Given the description of an element on the screen output the (x, y) to click on. 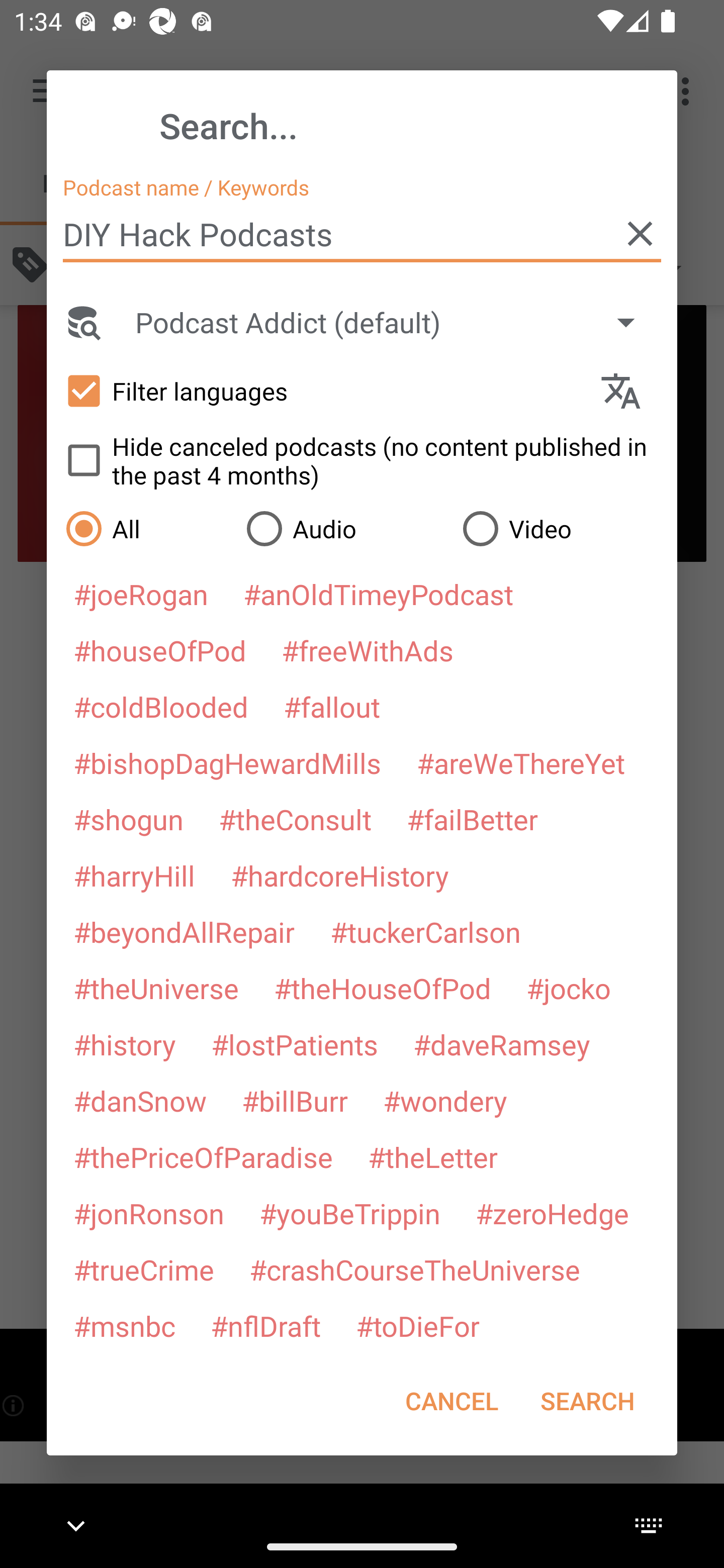
DIY Hack Podcasts (361, 234)
Search Engine (82, 322)
Podcast Addict (default) (394, 322)
Languages selection (629, 390)
Filter languages (322, 390)
All (145, 528)
Audio (344, 528)
Video (560, 528)
#joeRogan (140, 594)
#anOldTimeyPodcast (378, 594)
#houseOfPod (159, 650)
#freeWithAds (367, 650)
#coldBlooded (160, 705)
#fallout (331, 705)
#bishopDagHewardMills (227, 762)
#areWeThereYet (521, 762)
#shogun (128, 818)
#theConsult (294, 818)
#failBetter (471, 818)
#harryHill (134, 875)
#hardcoreHistory (339, 875)
#beyondAllRepair (184, 931)
#tuckerCarlson (425, 931)
#theUniverse (155, 987)
#theHouseOfPod (381, 987)
#jocko (568, 987)
#history (124, 1044)
#lostPatients (294, 1044)
#daveRamsey (501, 1044)
#danSnow (139, 1100)
#billBurr (294, 1100)
#wondery (444, 1100)
#thePriceOfParadise (203, 1157)
#theLetter (432, 1157)
#jonRonson (148, 1213)
#youBeTrippin (349, 1213)
#zeroHedge (552, 1213)
#trueCrime (143, 1268)
#crashCourseTheUniverse (414, 1268)
#msnbc (124, 1325)
#nflDraft (265, 1325)
#toDieFor (417, 1325)
CANCEL (451, 1400)
SEARCH (587, 1400)
